Given the description of an element on the screen output the (x, y) to click on. 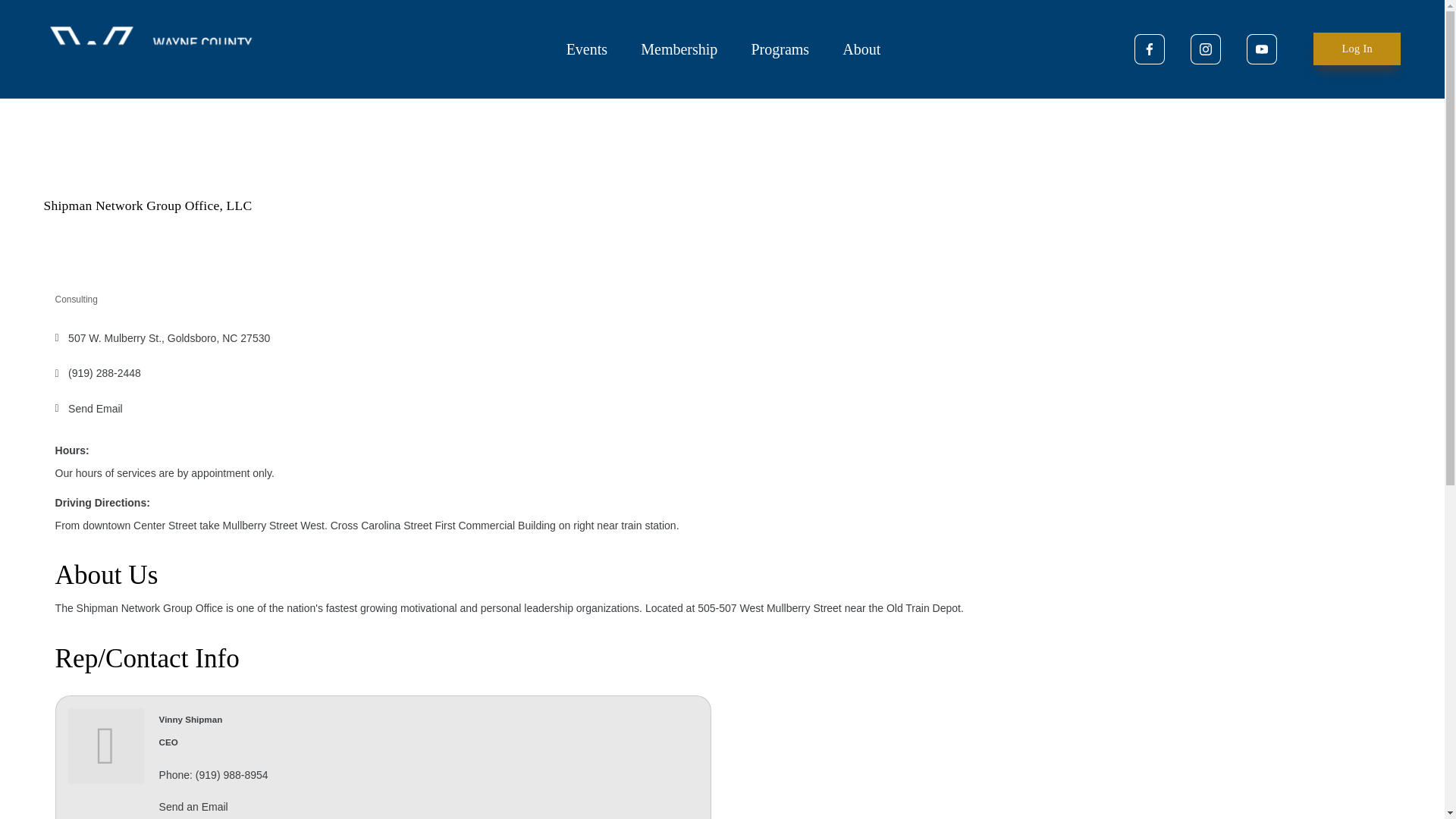
Events (586, 49)
Membership (678, 49)
Programs (780, 49)
Log In (1356, 48)
About (861, 49)
